Given the description of an element on the screen output the (x, y) to click on. 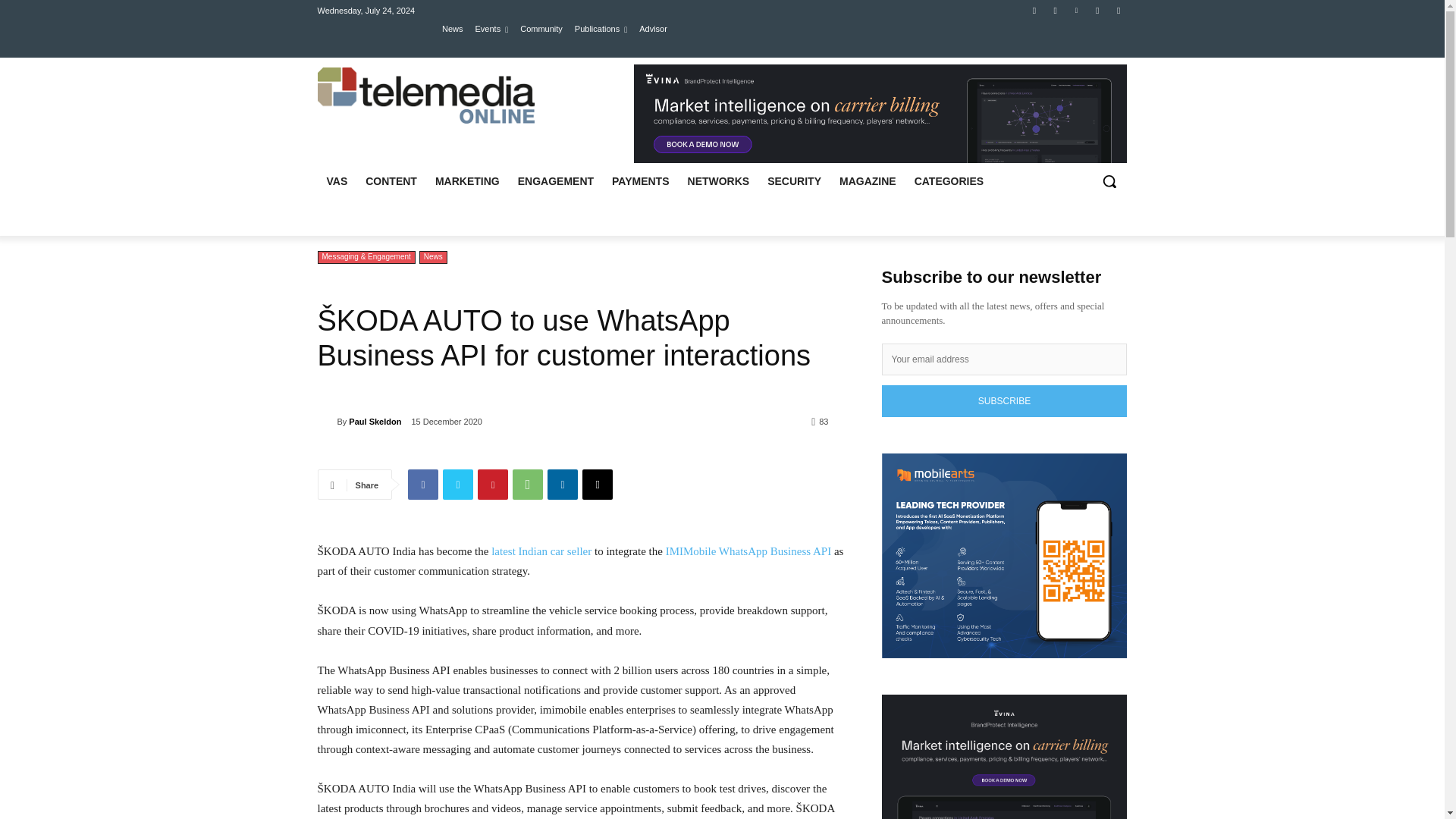
Telemedia Online Magazine Logo (425, 95)
Evina 110o x 220 (879, 113)
Facebook (1034, 9)
Linkedin (1075, 9)
Rss (1117, 9)
Twitter (1055, 9)
Youtube (1097, 9)
